Given the description of an element on the screen output the (x, y) to click on. 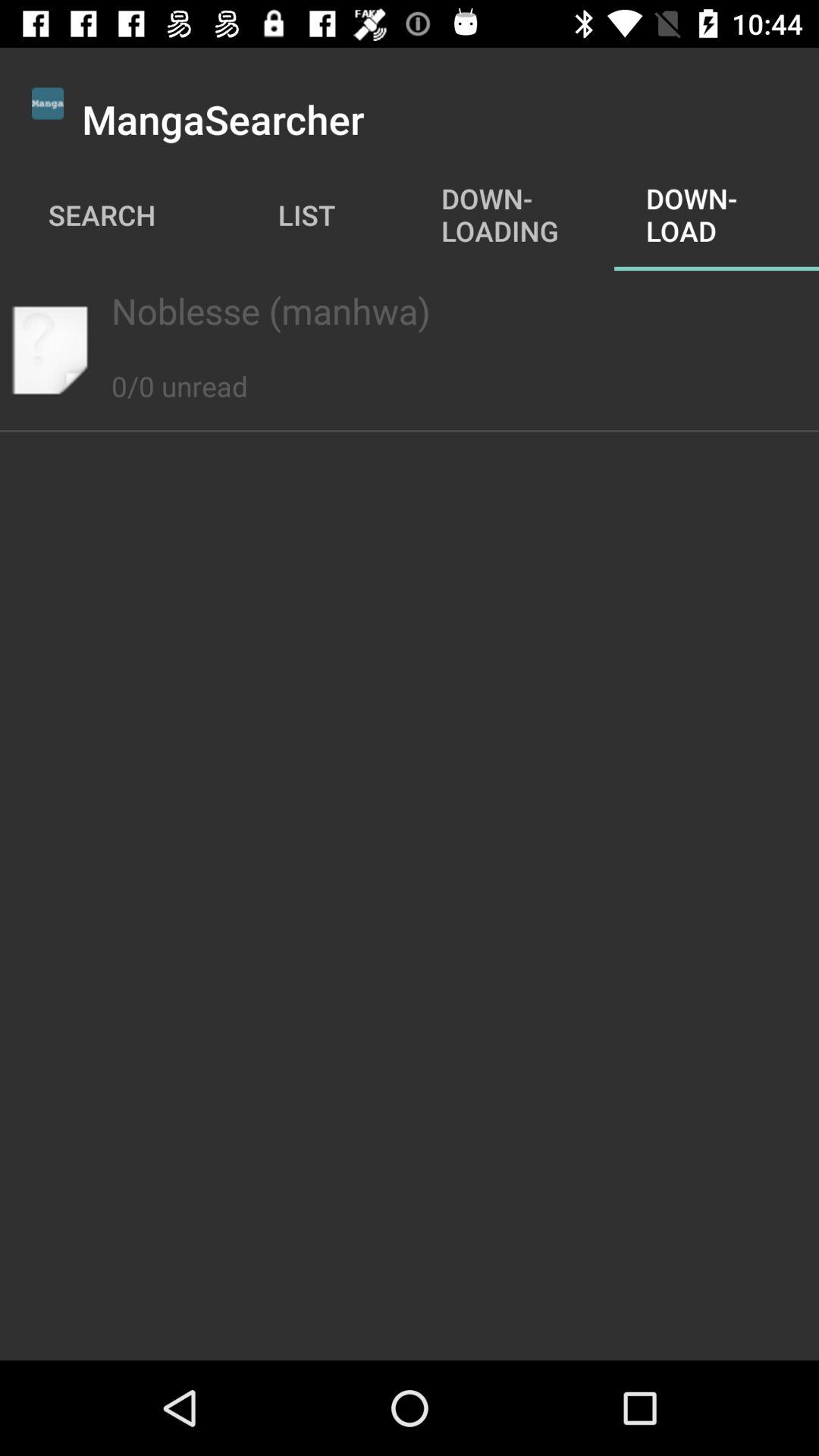
turn on item below the search app (409, 310)
